Given the description of an element on the screen output the (x, y) to click on. 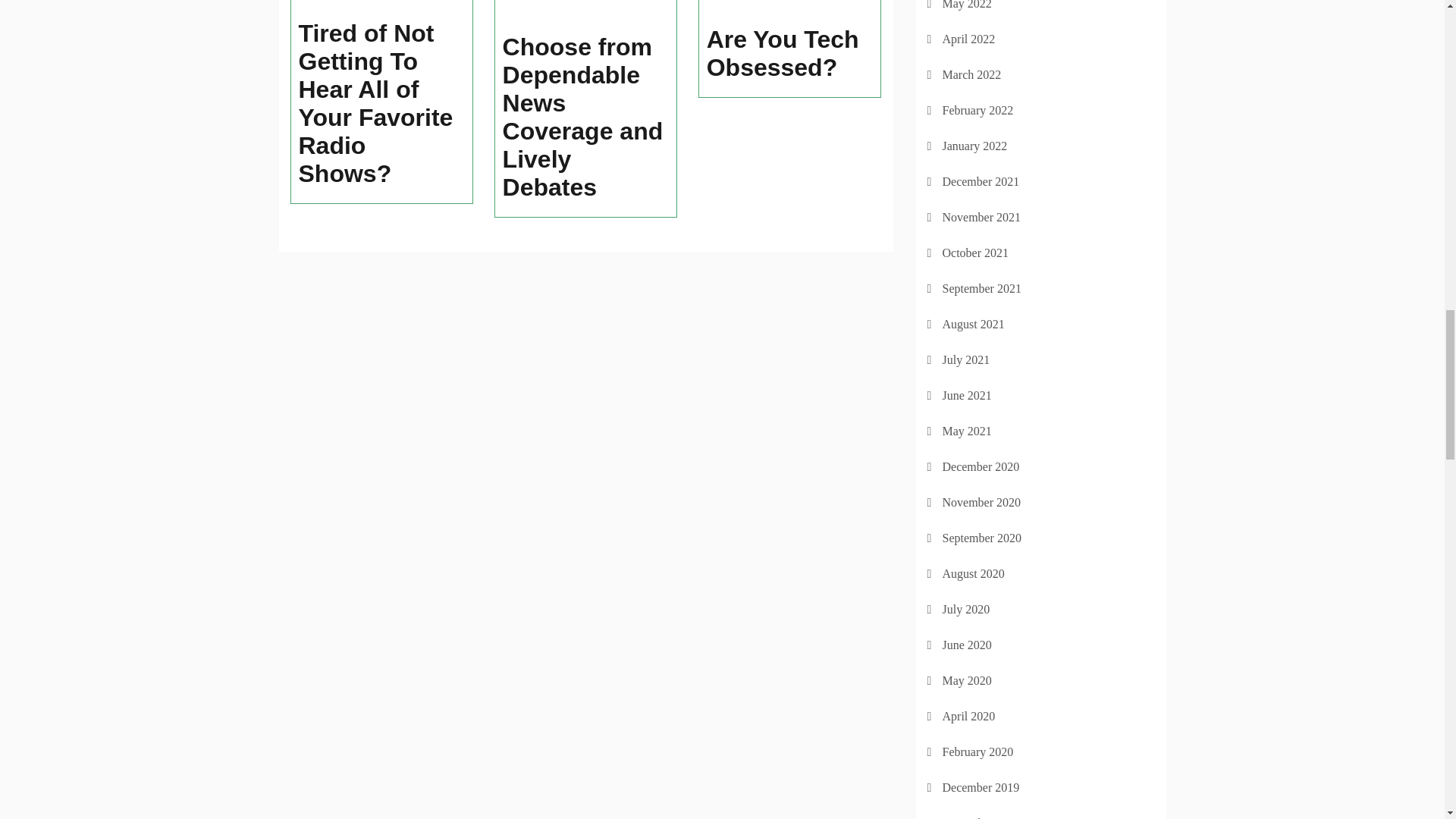
Choose from Dependable News Coverage and Lively Debates (585, 117)
Are You Tech Obsessed? (789, 53)
